Given the description of an element on the screen output the (x, y) to click on. 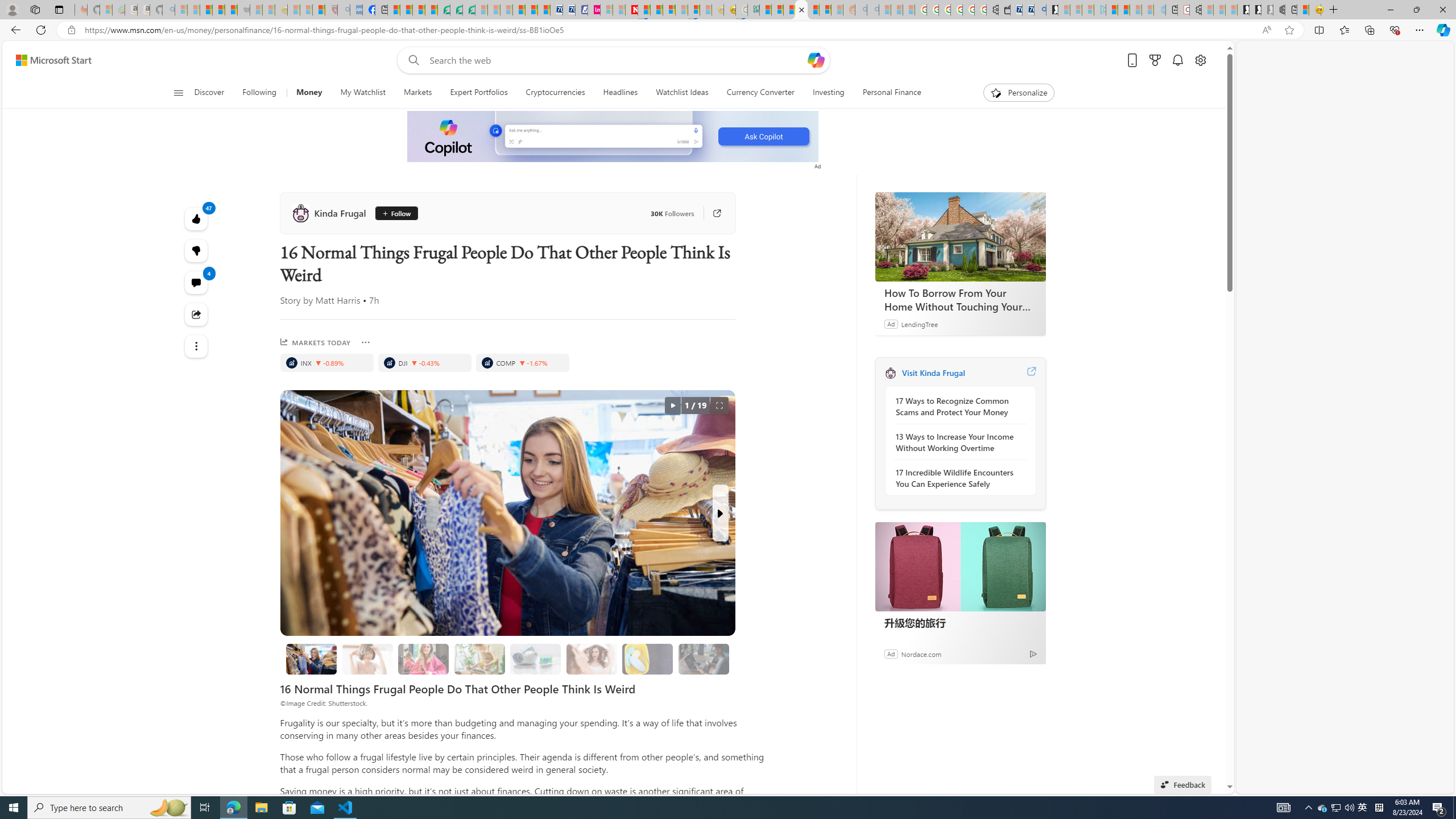
Wallet (1003, 9)
Microsoft Word - consumer-privacy address update 2.2021 (468, 9)
Bing Real Estate - Home sales and rental listings (1040, 9)
Investing (828, 92)
3. Growing From Seeds (479, 659)
